Given the description of an element on the screen output the (x, y) to click on. 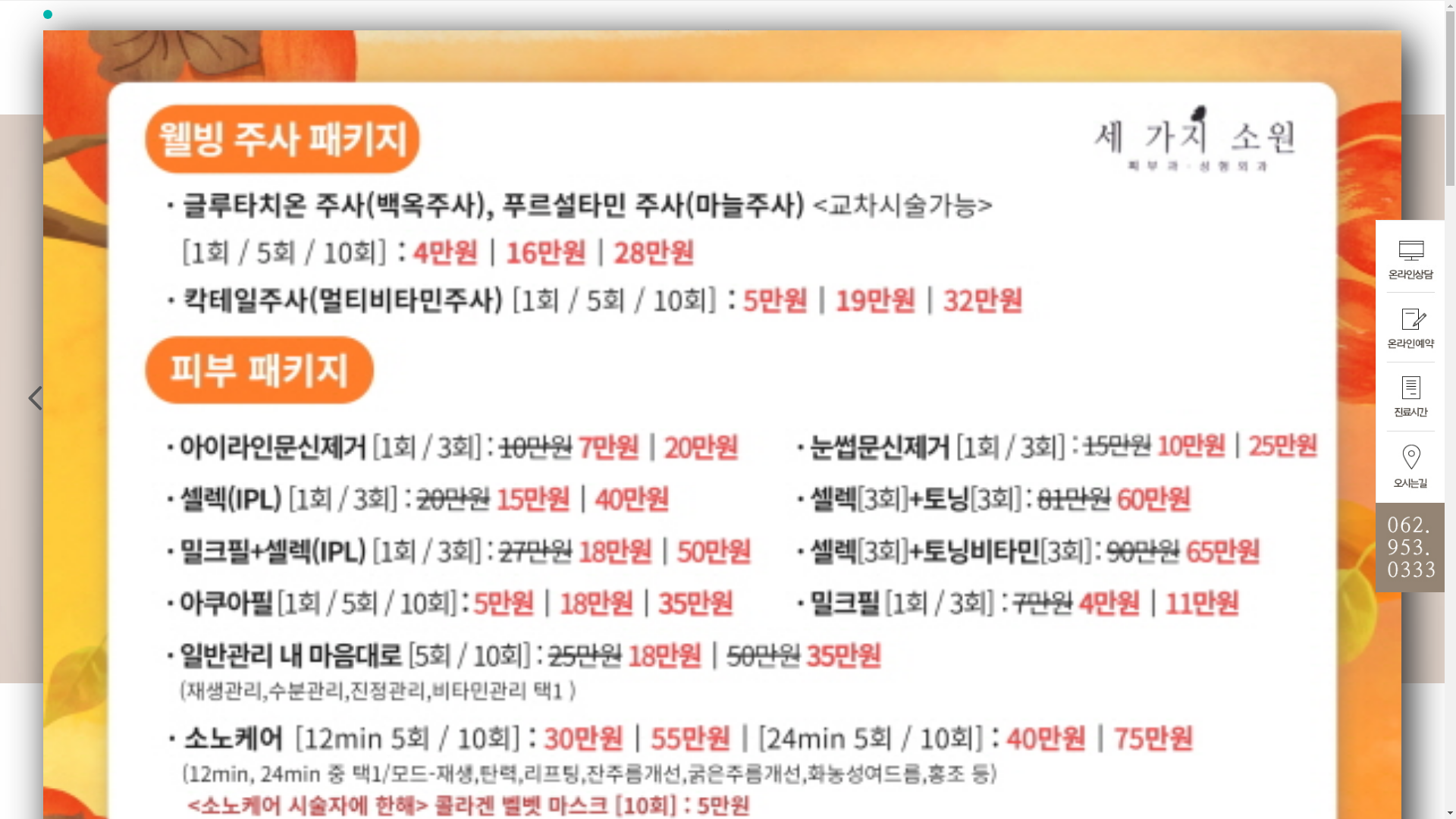
INSTAGRAM Element type: text (1111, 37)
Submit Element type: text (1161, 65)
BLOG Element type: text (1163, 37)
